Given the description of an element on the screen output the (x, y) to click on. 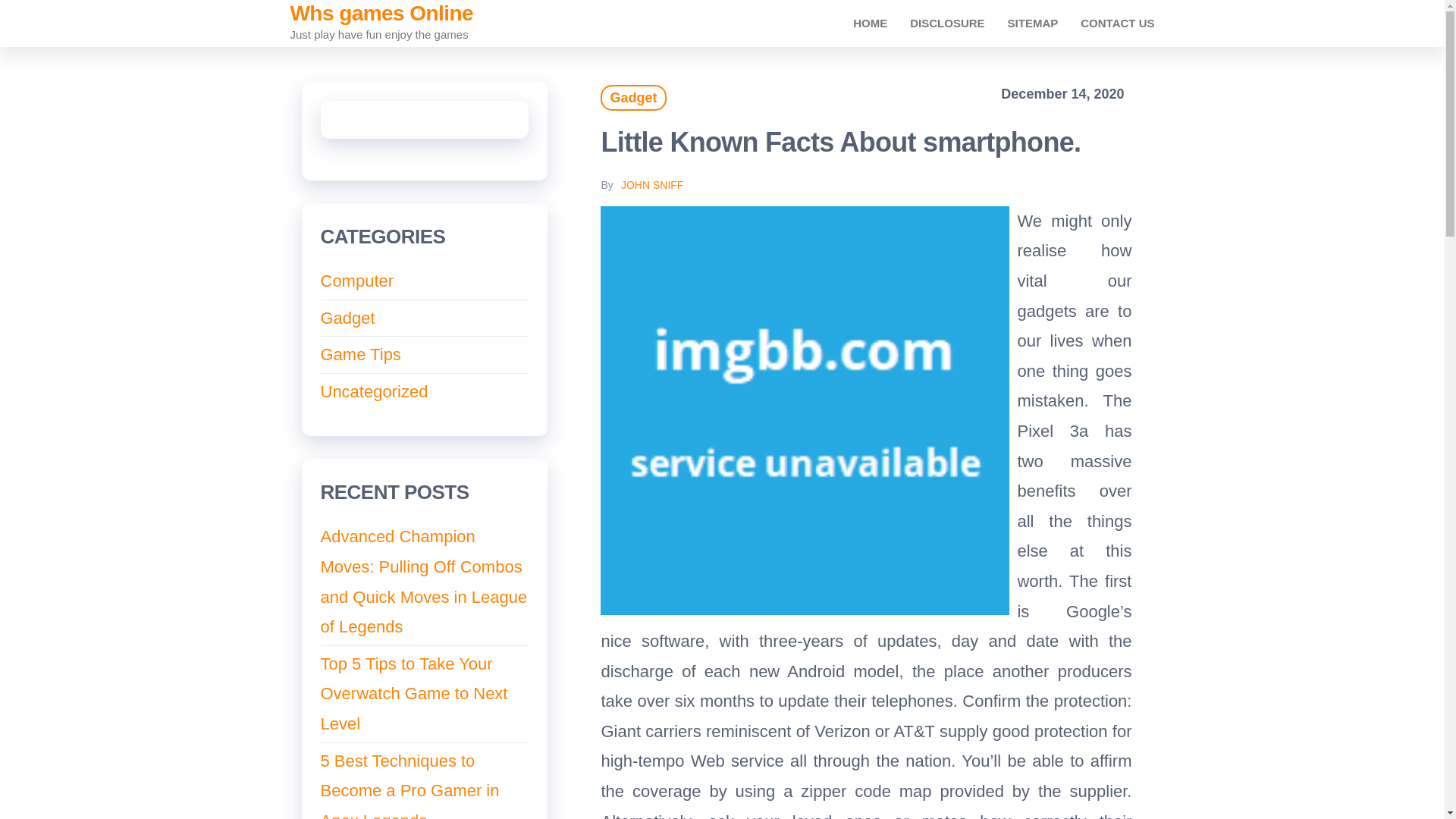
SITEMAP (1032, 22)
HOME (869, 22)
HOME (869, 22)
Gadget (347, 317)
Computer (356, 280)
5 Best Techniques to Become a Pro Gamer in Apex Legends (409, 785)
JOHN SNIFF (651, 184)
Top 5 Tips to Take Your Overwatch Game to Next Level (413, 693)
CONTACT US (1117, 22)
SITEMAP (1032, 22)
Game Tips (360, 353)
Gadget (632, 97)
Whs games Online (381, 13)
DISCLOSURE (946, 22)
